Given the description of an element on the screen output the (x, y) to click on. 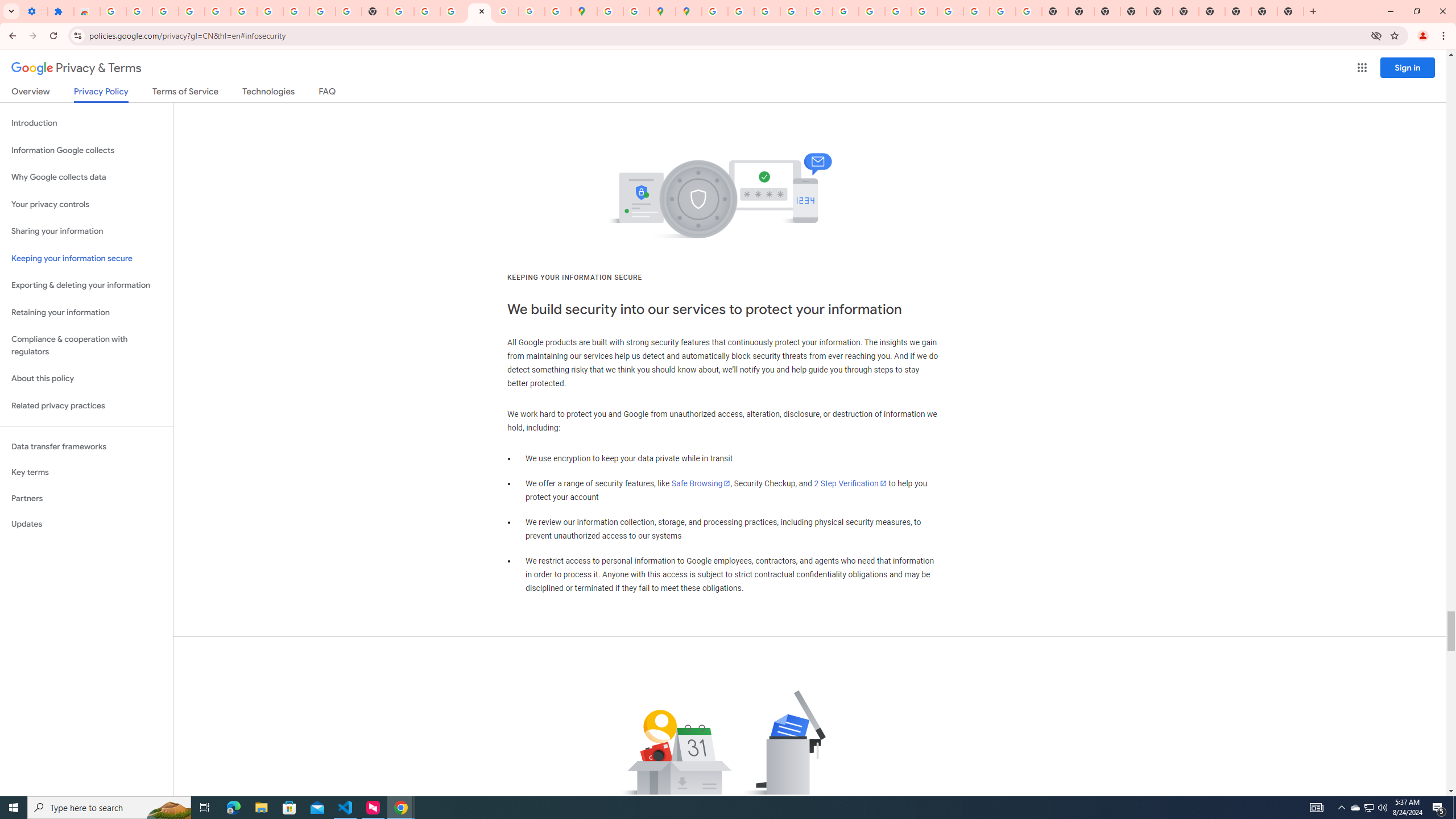
Delete photos & videos - Computer - Google Photos Help (165, 11)
New Tab (1133, 11)
